Given the description of an element on the screen output the (x, y) to click on. 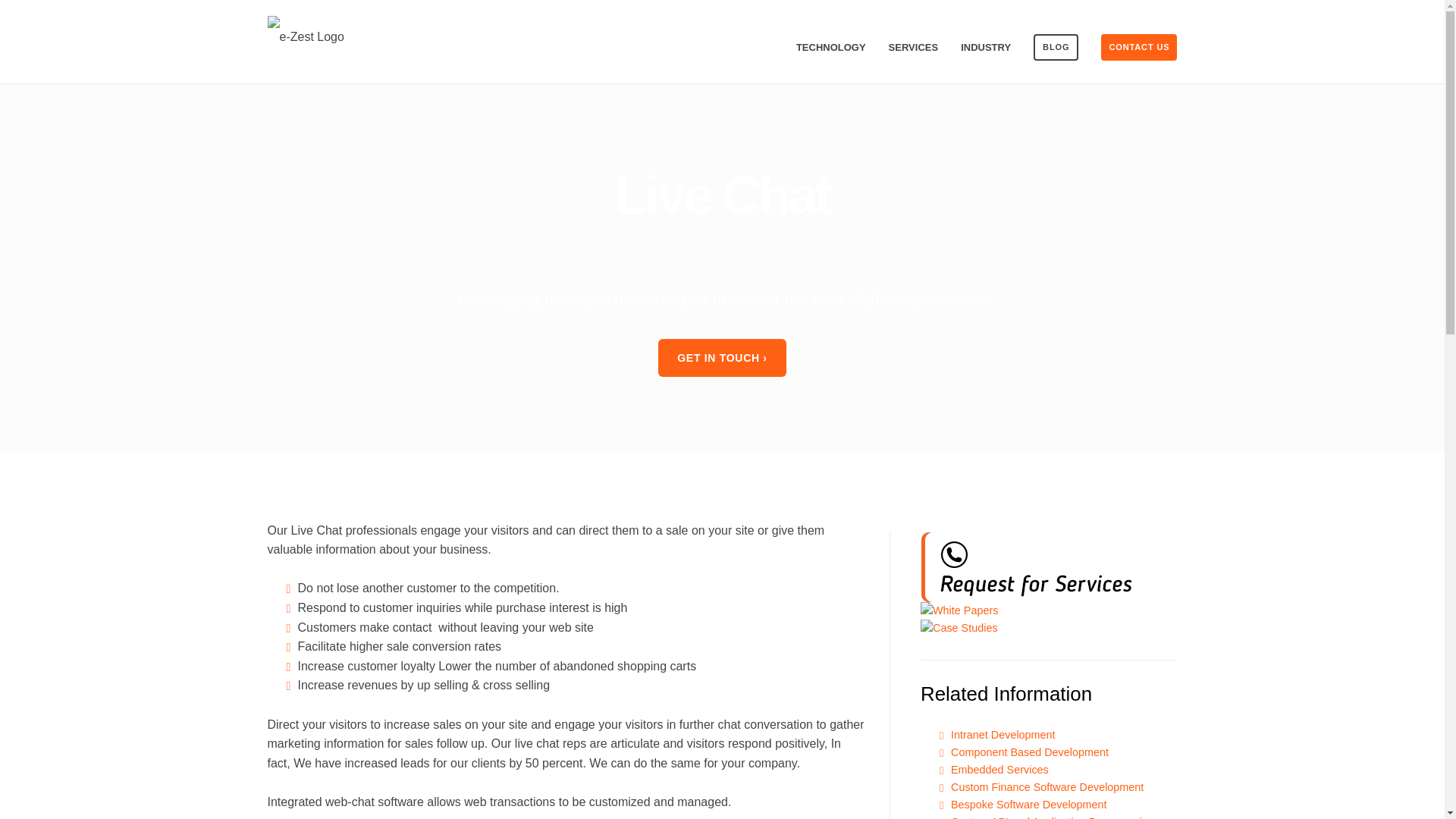
Bespoke Software Development (1028, 804)
TECHNOLOGY (831, 46)
SERVICES (913, 46)
Embedded Services (999, 769)
INDUSTRY (985, 46)
e-Zest Logo (304, 36)
BLOG (1055, 46)
Intranet Development (1002, 734)
Component Based Development (1029, 752)
Custom Finance Software Development (1046, 787)
CONTACT US (1138, 46)
